Given the description of an element on the screen output the (x, y) to click on. 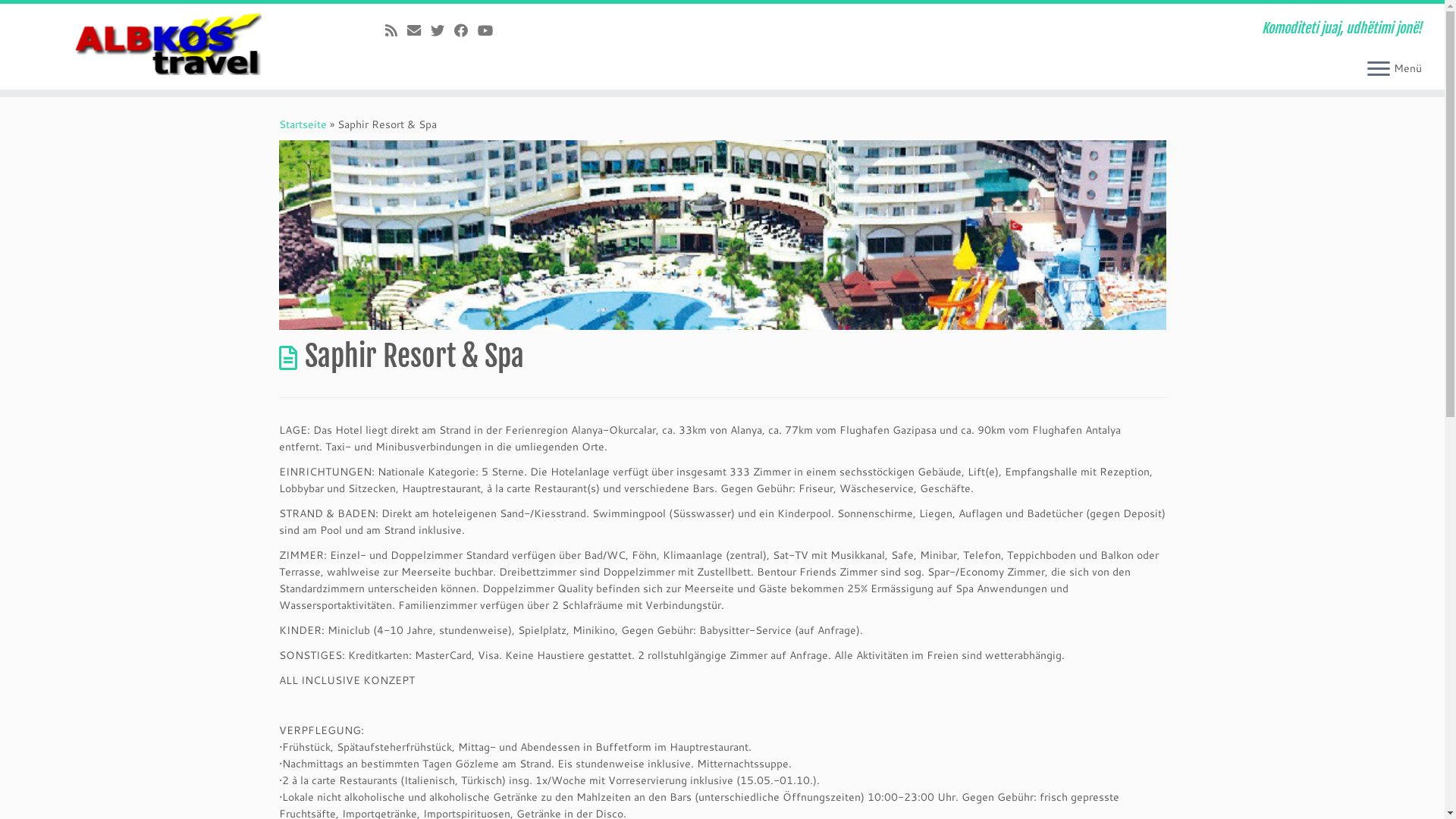
Follow me on Youtube Element type: hover (489, 30)
E-mail Element type: hover (418, 30)
Follow me on Facebook Element type: hover (465, 30)
Startseite Element type: text (302, 123)
Follow me on Twitter Element type: hover (442, 30)
Subscribe to my rss feed Element type: hover (396, 30)
